Given the description of an element on the screen output the (x, y) to click on. 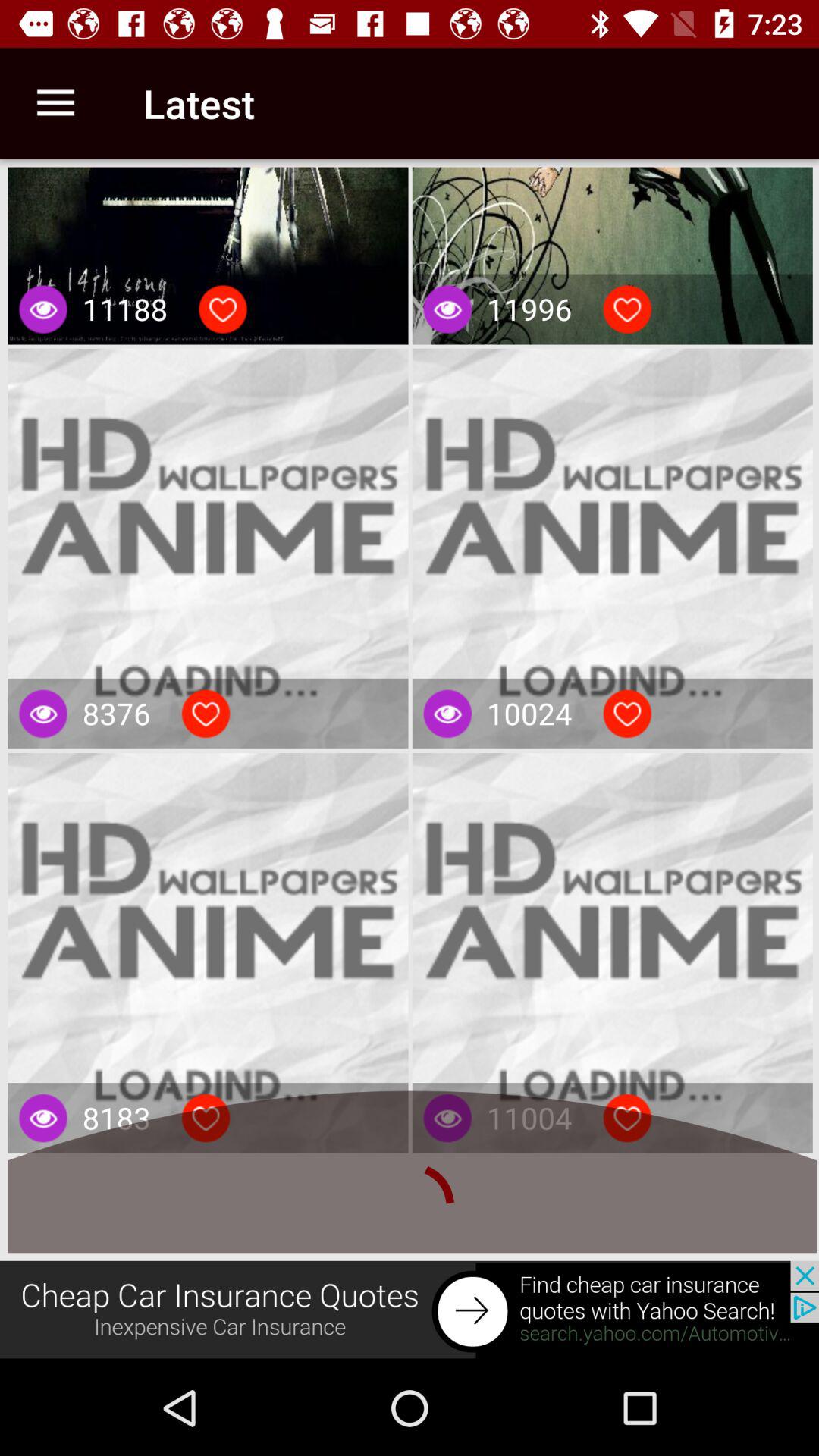
like wallpaper (205, 1118)
